Given the description of an element on the screen output the (x, y) to click on. 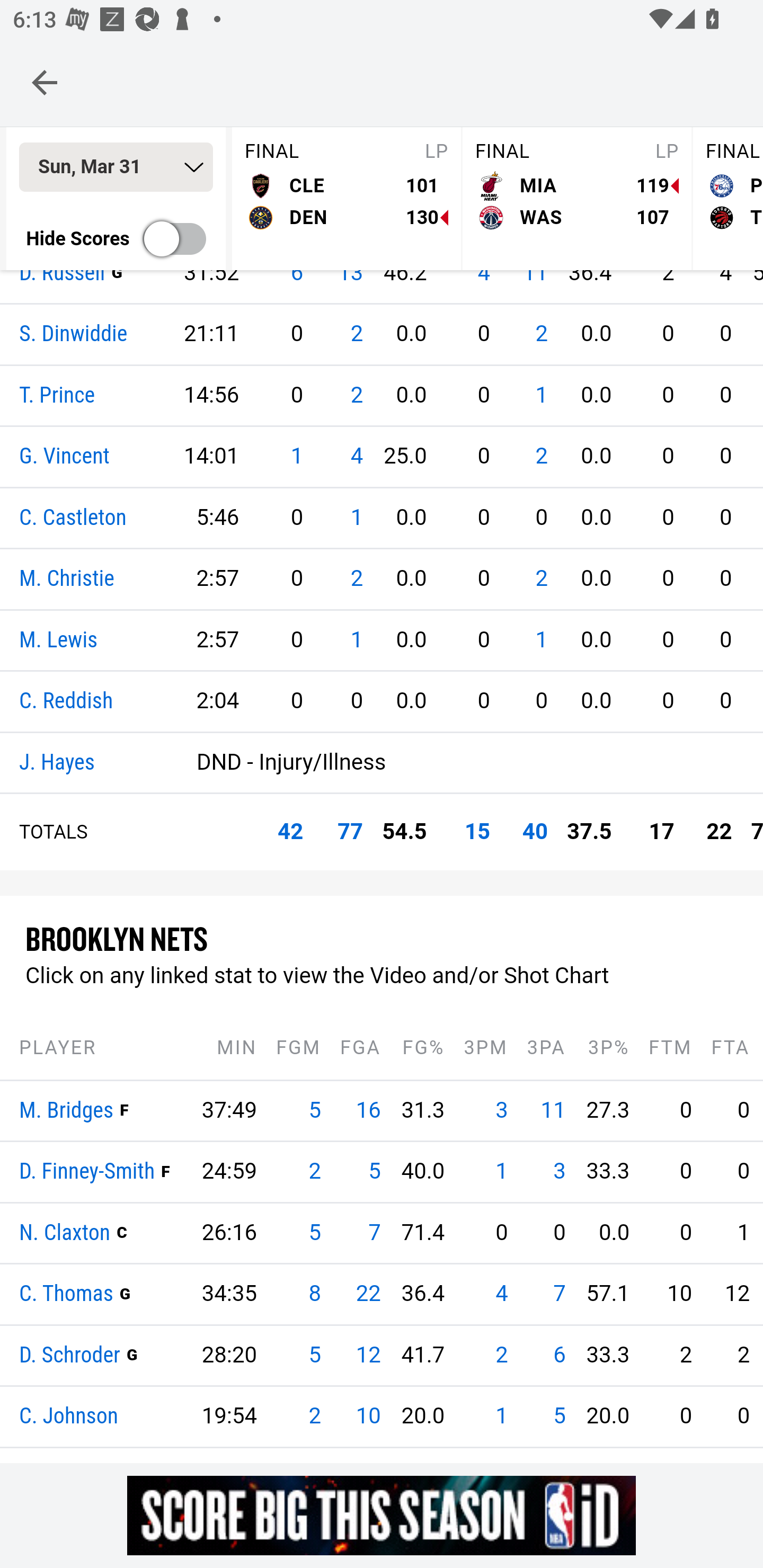
Navigate up (44, 82)
Sun, Mar 31 (115, 168)
S. Dinwiddie S .  Dinwiddie (73, 335)
2 (356, 334)
2 (541, 334)
T. Prince T .  Prince (57, 395)
2 (356, 395)
1 (541, 395)
G. Vincent G .  Vincent (64, 457)
1 (296, 456)
4 (356, 456)
2 (541, 456)
C. Castleton C .  Castleton (73, 518)
1 (356, 518)
M. Christie M .  Christie (66, 580)
2 (356, 579)
2 (541, 579)
M. Lewis M .  Lewis (58, 640)
1 (356, 640)
1 (541, 640)
C. Reddish C .  Reddish (66, 702)
J. Hayes J .  Hayes (57, 762)
42 (289, 831)
77 (350, 831)
15 (477, 831)
40 (534, 831)
M. Bridges M .  Bridges (66, 1110)
5 (314, 1110)
16 (367, 1110)
3 (501, 1110)
11 (553, 1110)
D. Finney-Smith D .  Finney-Smith (87, 1172)
2 (314, 1171)
5 (374, 1171)
1 (501, 1171)
3 (559, 1171)
N. Claxton N .  Claxton (65, 1233)
5 (314, 1233)
7 (374, 1233)
C. Thomas C .  Thomas (66, 1295)
8 (314, 1294)
22 (367, 1294)
4 (501, 1294)
7 (559, 1294)
D. Schroder D .  Schroder (69, 1355)
5 (314, 1355)
12 (367, 1355)
2 (501, 1355)
6 (559, 1355)
C. Johnson C .  Johnson (69, 1417)
2 (314, 1416)
10 (367, 1416)
1 (501, 1416)
5 (559, 1416)
g5nqqygr7owph (381, 1515)
